Given the description of an element on the screen output the (x, y) to click on. 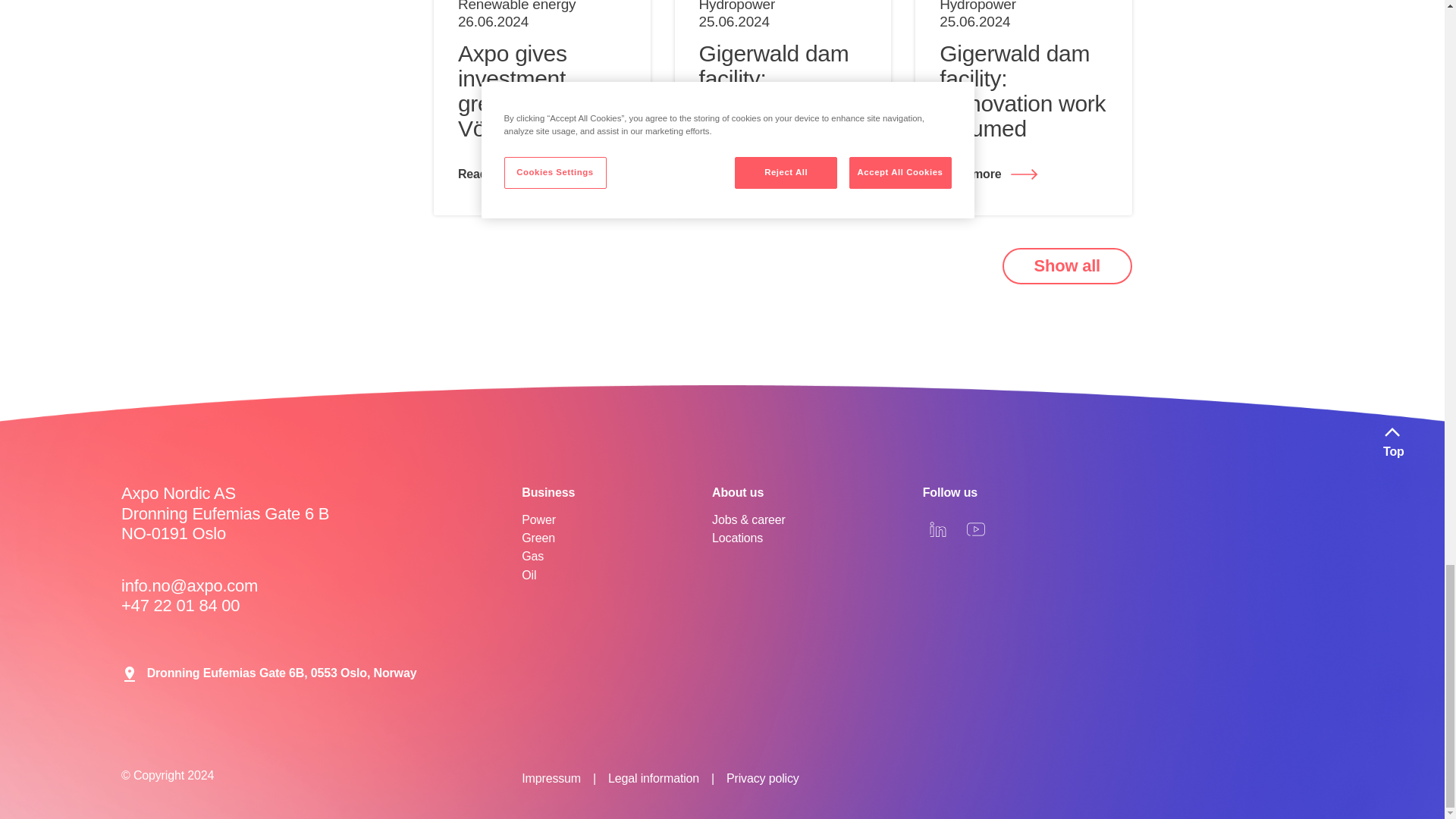
Power (616, 519)
Read more (1023, 174)
Show all (1067, 266)
Read more (782, 174)
Dronning Eufemias Gate 6B, 0553 Oslo, Norway (268, 672)
Read more (542, 174)
